Given the description of an element on the screen output the (x, y) to click on. 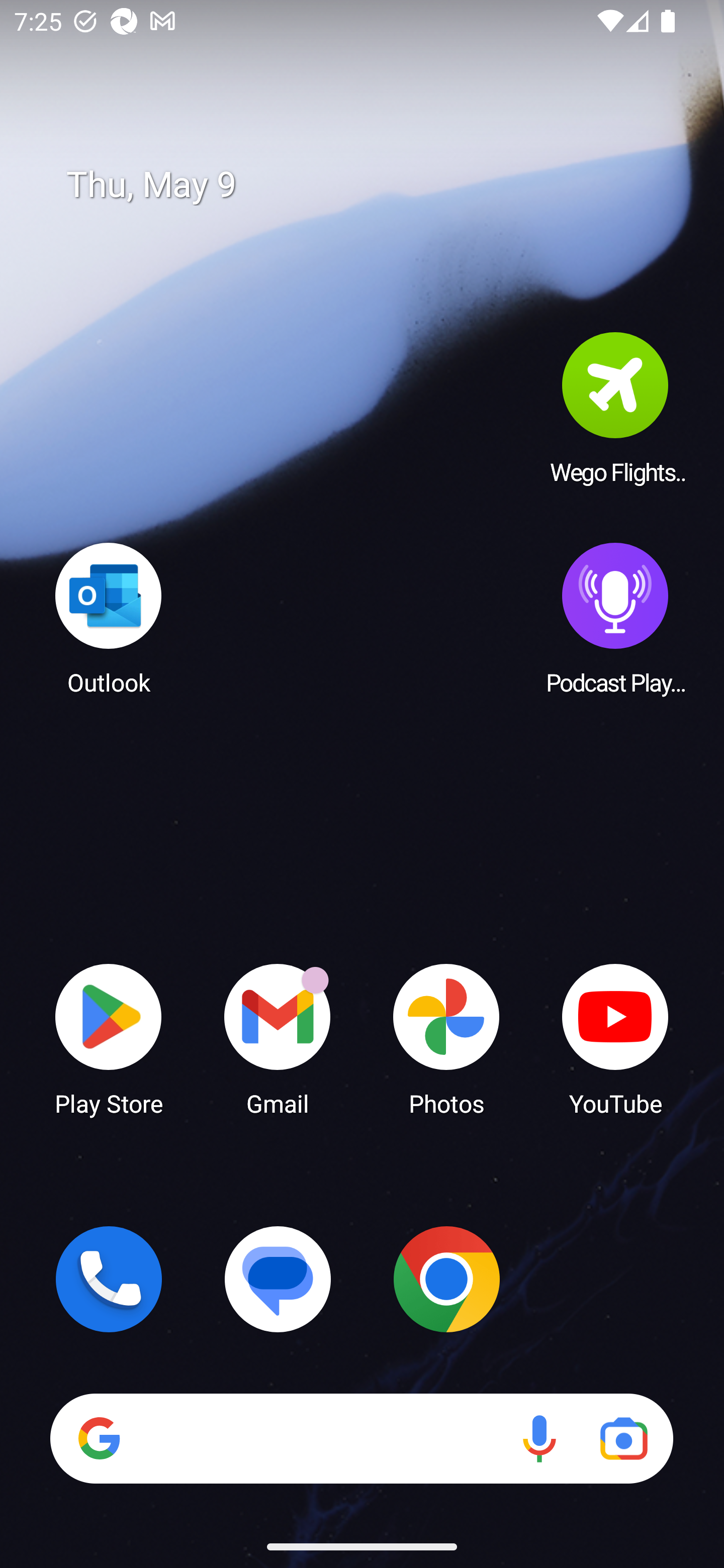
Thu, May 9 (375, 184)
Wego Flights & Hotels (615, 407)
Outlook (108, 617)
Podcast Player (615, 617)
Play Store (108, 1038)
Gmail Gmail has 18 notifications (277, 1038)
Photos (445, 1038)
YouTube (615, 1038)
Phone (108, 1279)
Messages (277, 1279)
Chrome (446, 1279)
Search Voice search Google Lens (361, 1438)
Voice search (539, 1438)
Google Lens (623, 1438)
